Given the description of an element on the screen output the (x, y) to click on. 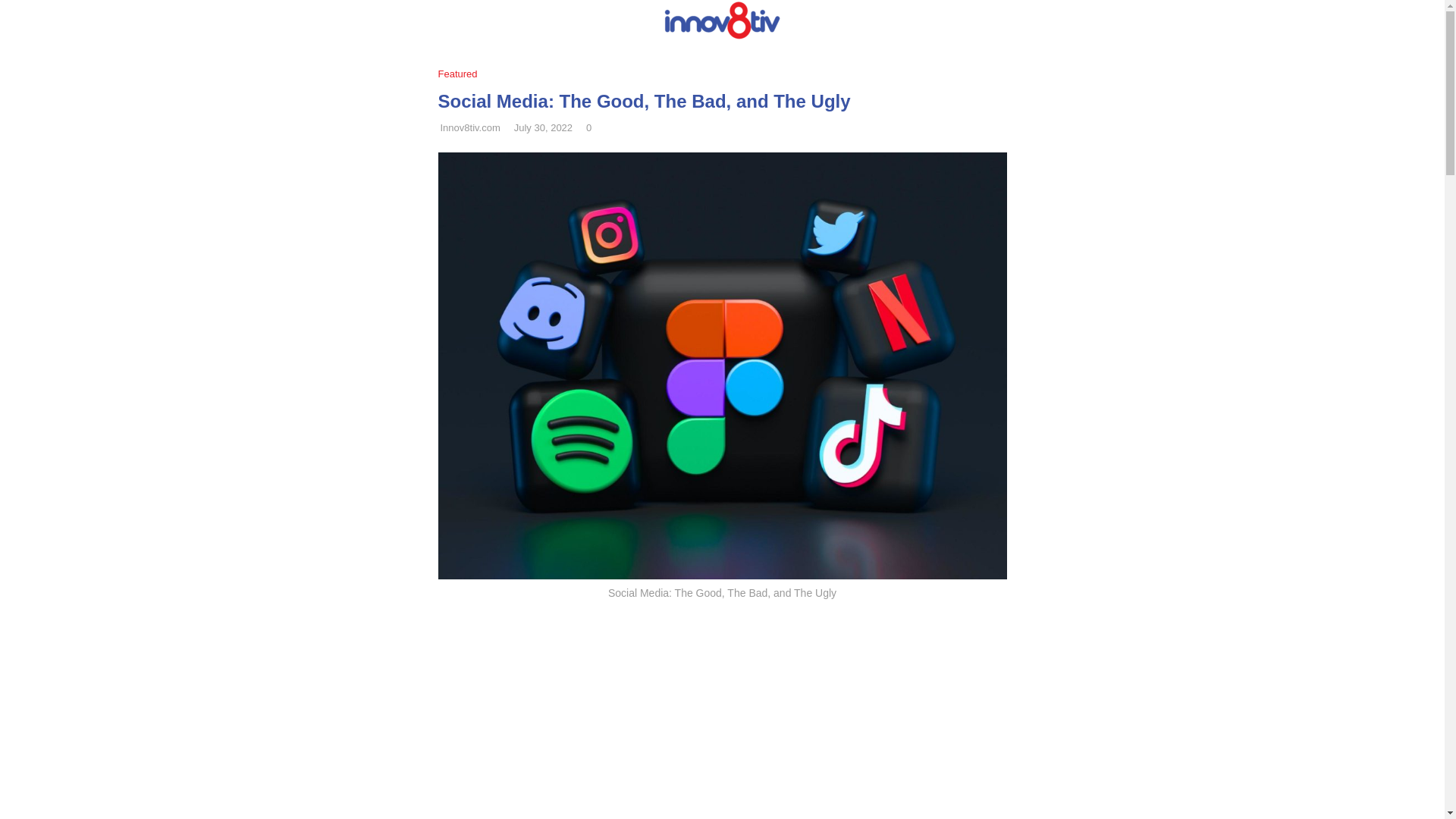
July 30, 2022 (542, 127)
3rd party ad content (721, 713)
Featured (461, 73)
